Given the description of an element on the screen output the (x, y) to click on. 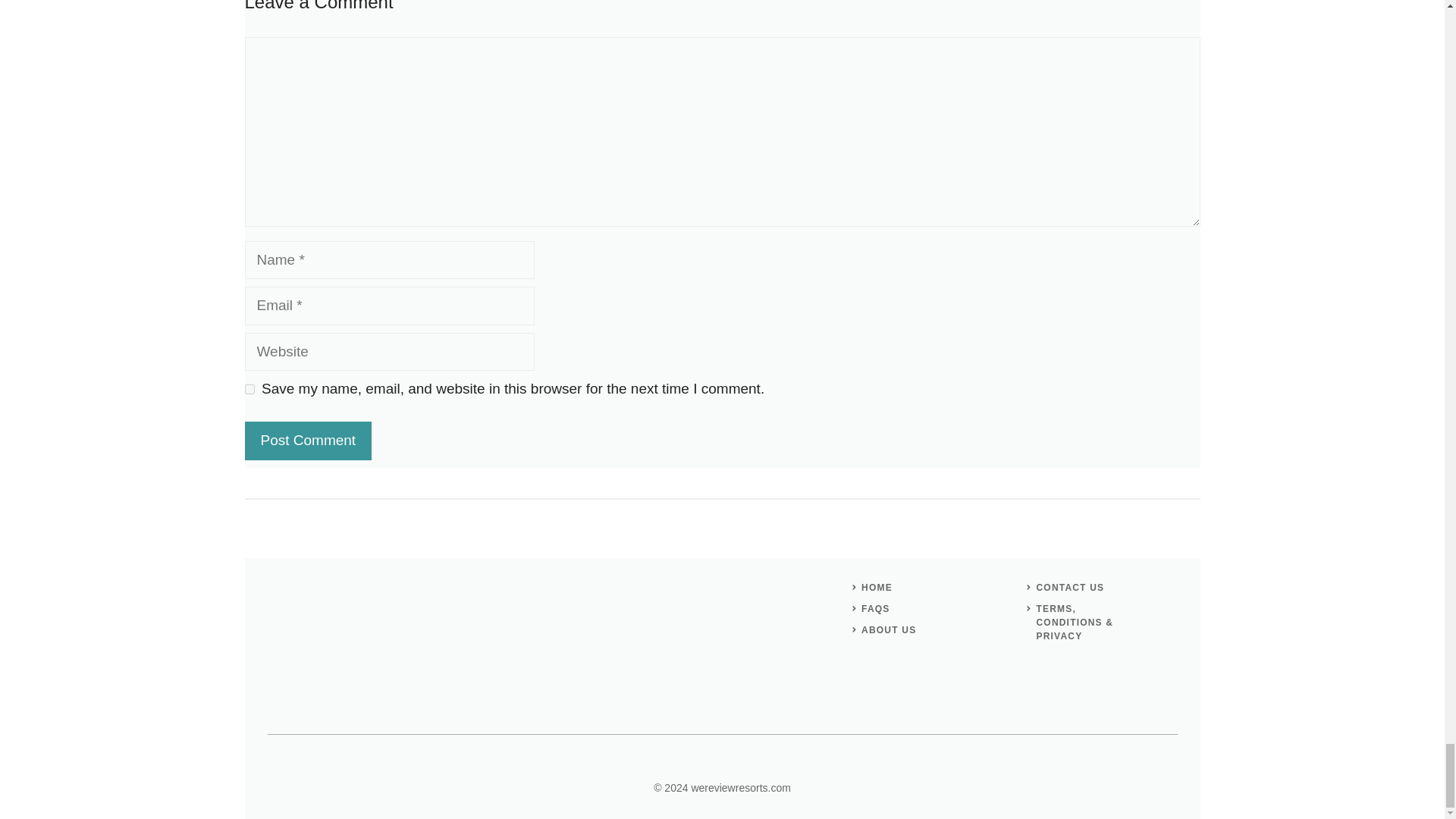
Post Comment (307, 440)
yes (248, 388)
